Given the description of an element on the screen output the (x, y) to click on. 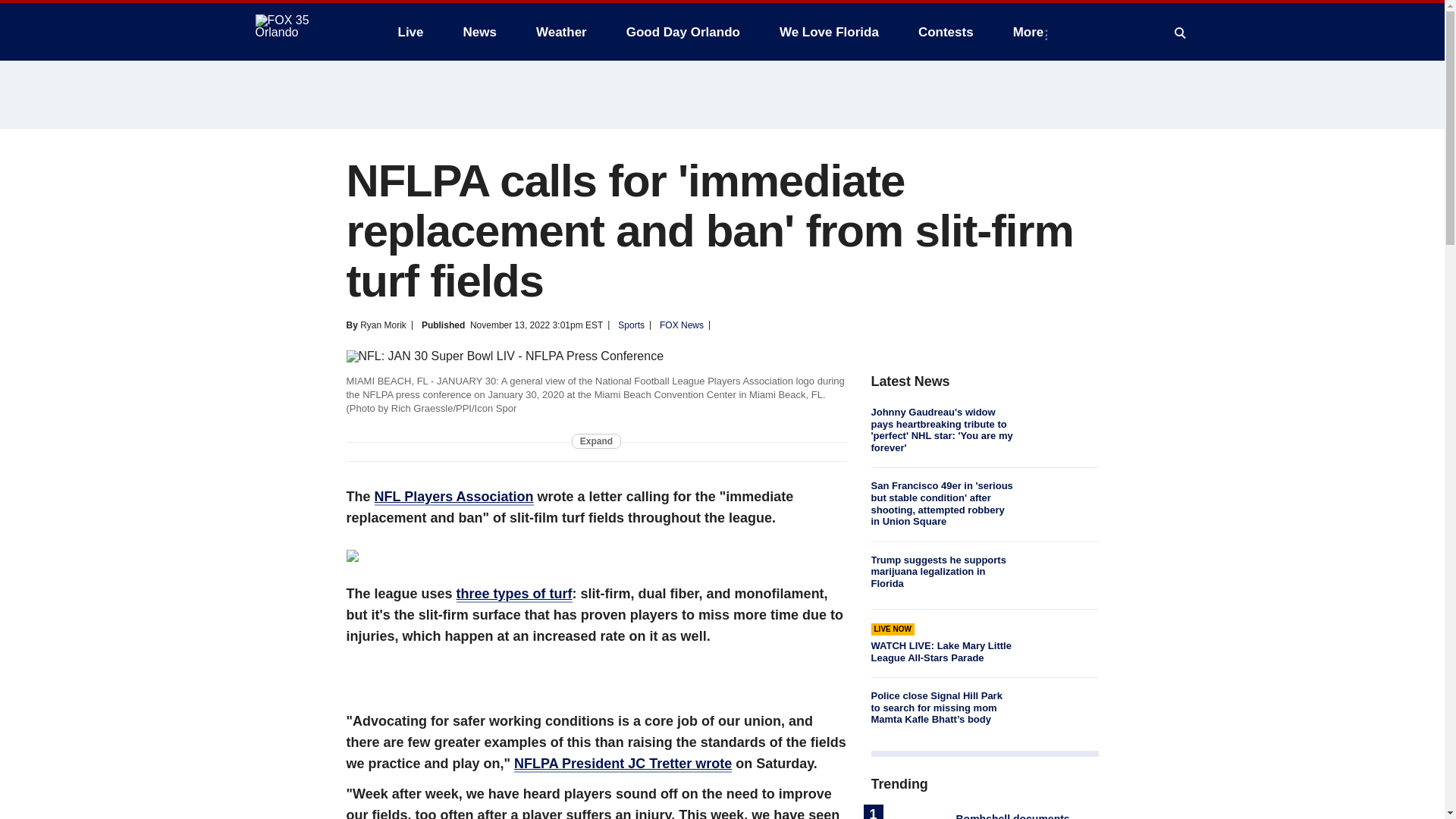
We Love Florida (829, 32)
Weather (561, 32)
Good Day Orlando (683, 32)
Live (410, 32)
More (1031, 32)
News (479, 32)
Contests (945, 32)
